Given the description of an element on the screen output the (x, y) to click on. 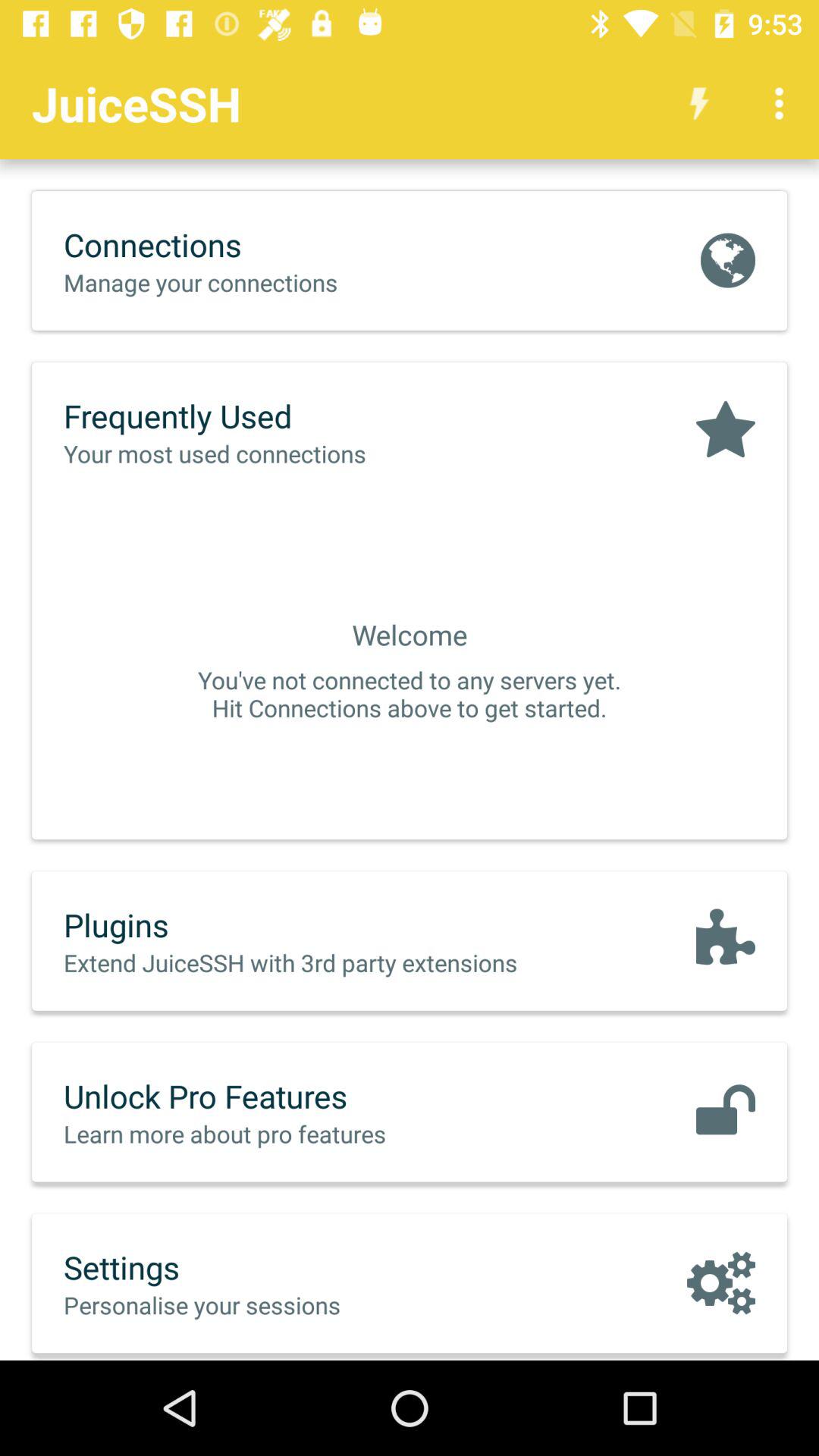
launch the app next to juicessh (699, 103)
